Given the description of an element on the screen output the (x, y) to click on. 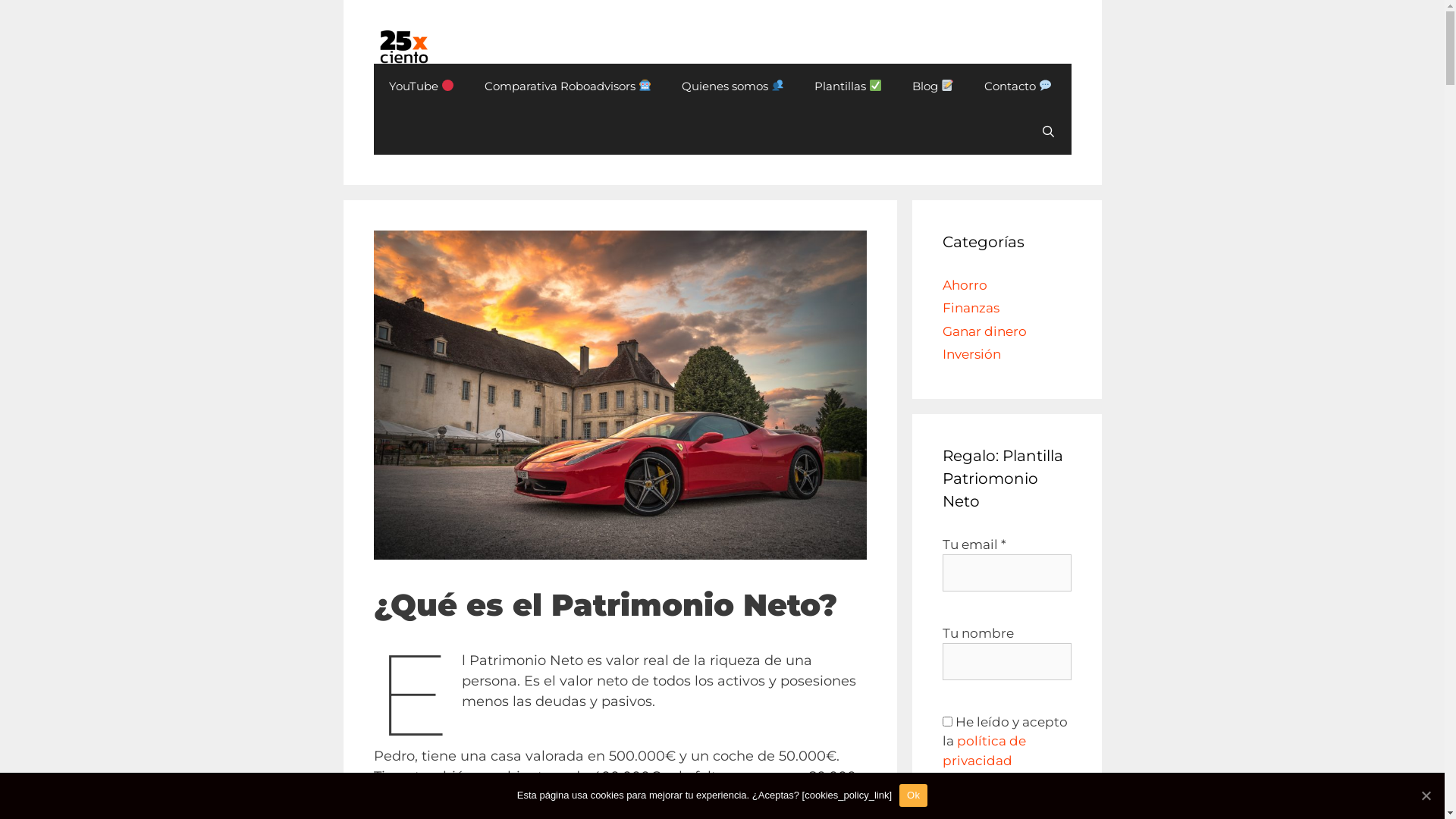
Comparativa Roboadvisors Element type: text (567, 86)
25xciento Element type: hover (403, 46)
Ganar dinero Element type: text (983, 330)
YouTube Element type: text (420, 86)
Plantillas Element type: text (848, 86)
Ahorro Element type: text (963, 284)
25xciento Element type: hover (403, 45)
Quienes somos Element type: text (732, 86)
Contacto Element type: text (1017, 86)
Saltar al contenido Element type: text (0, 0)
Finanzas Element type: text (969, 307)
Ok Element type: text (913, 795)
Blog Element type: text (933, 86)
